Given the description of an element on the screen output the (x, y) to click on. 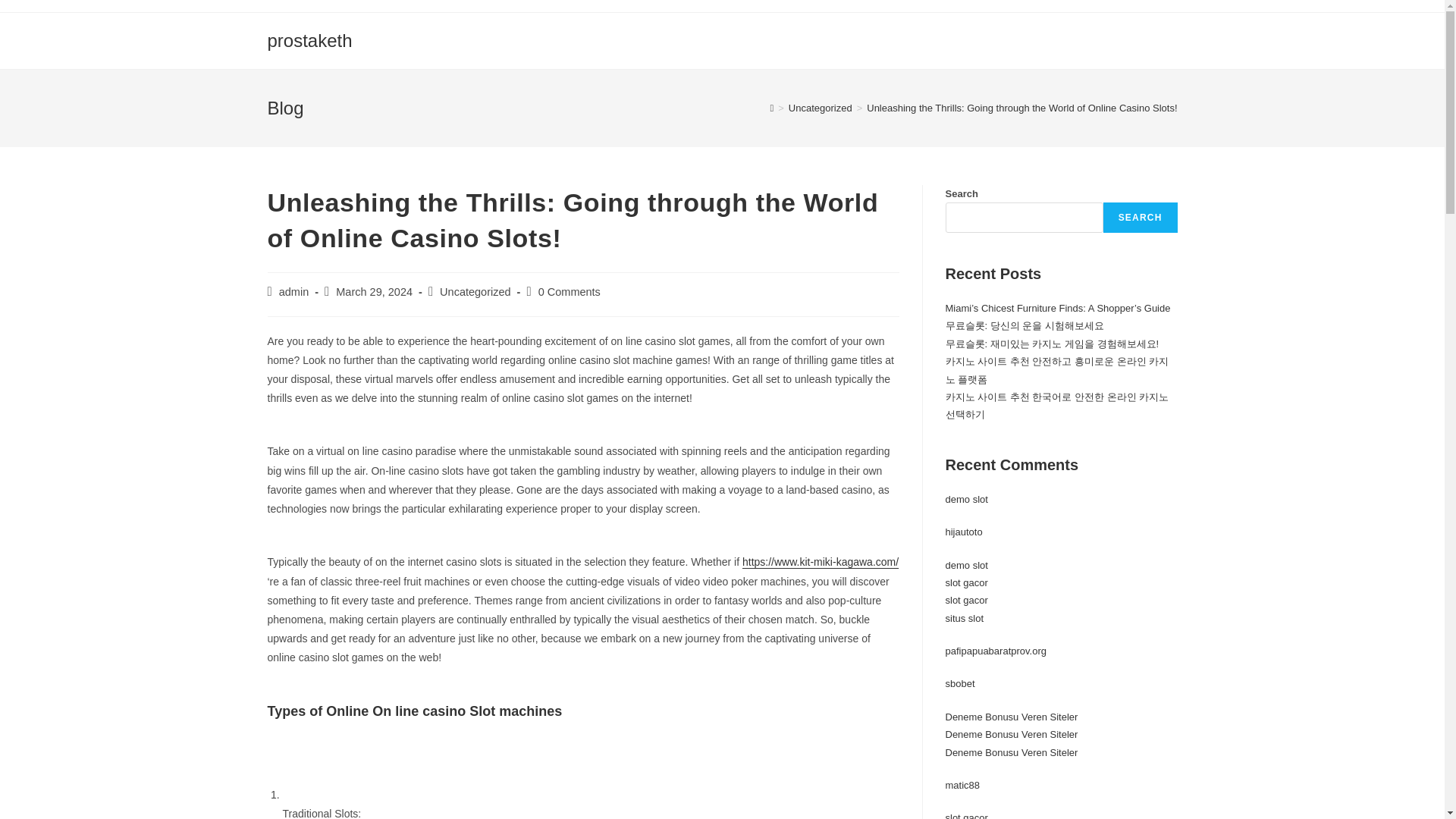
SEARCH (1140, 217)
Deneme Bonusu Veren Siteler (1010, 716)
slot gacor (965, 600)
demo slot (965, 564)
pafipapuabaratprov.org (994, 650)
sbobet (959, 683)
Uncategorized (820, 107)
Posts by admin (293, 291)
Deneme Bonusu Veren Siteler (1010, 752)
matic88 (961, 785)
demo slot (965, 499)
admin (293, 291)
slot gacor (965, 582)
situs slot (964, 618)
